Given the description of an element on the screen output the (x, y) to click on. 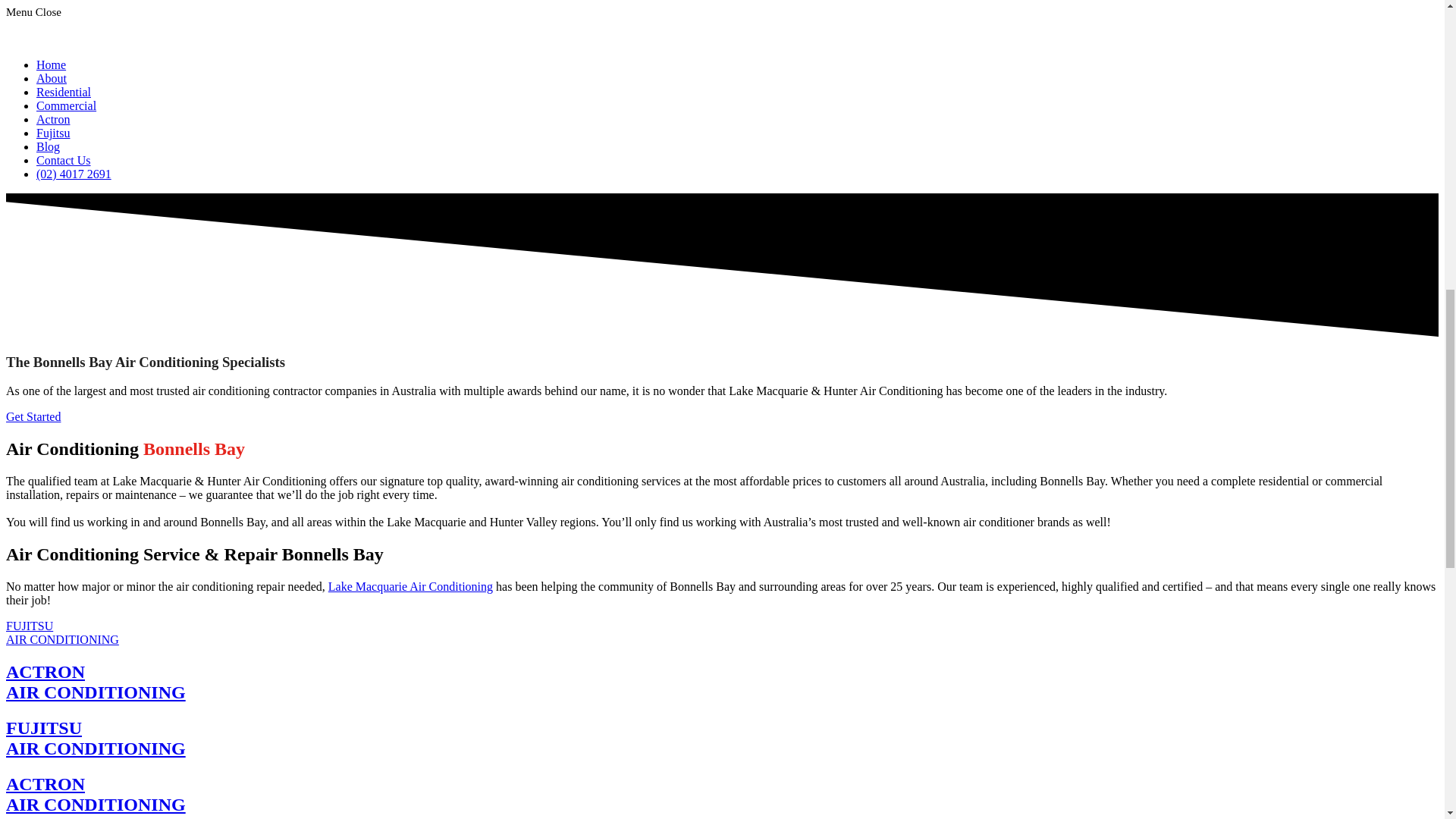
Commercial (62, 632)
Lake Macquarie Air Conditioning (66, 105)
Residential (411, 585)
Contact Us (63, 91)
About (63, 160)
Fujitsu (51, 78)
Get Started (95, 738)
Blog (95, 793)
Home (52, 132)
Menu Close (33, 416)
Actron (47, 146)
